Given the description of an element on the screen output the (x, y) to click on. 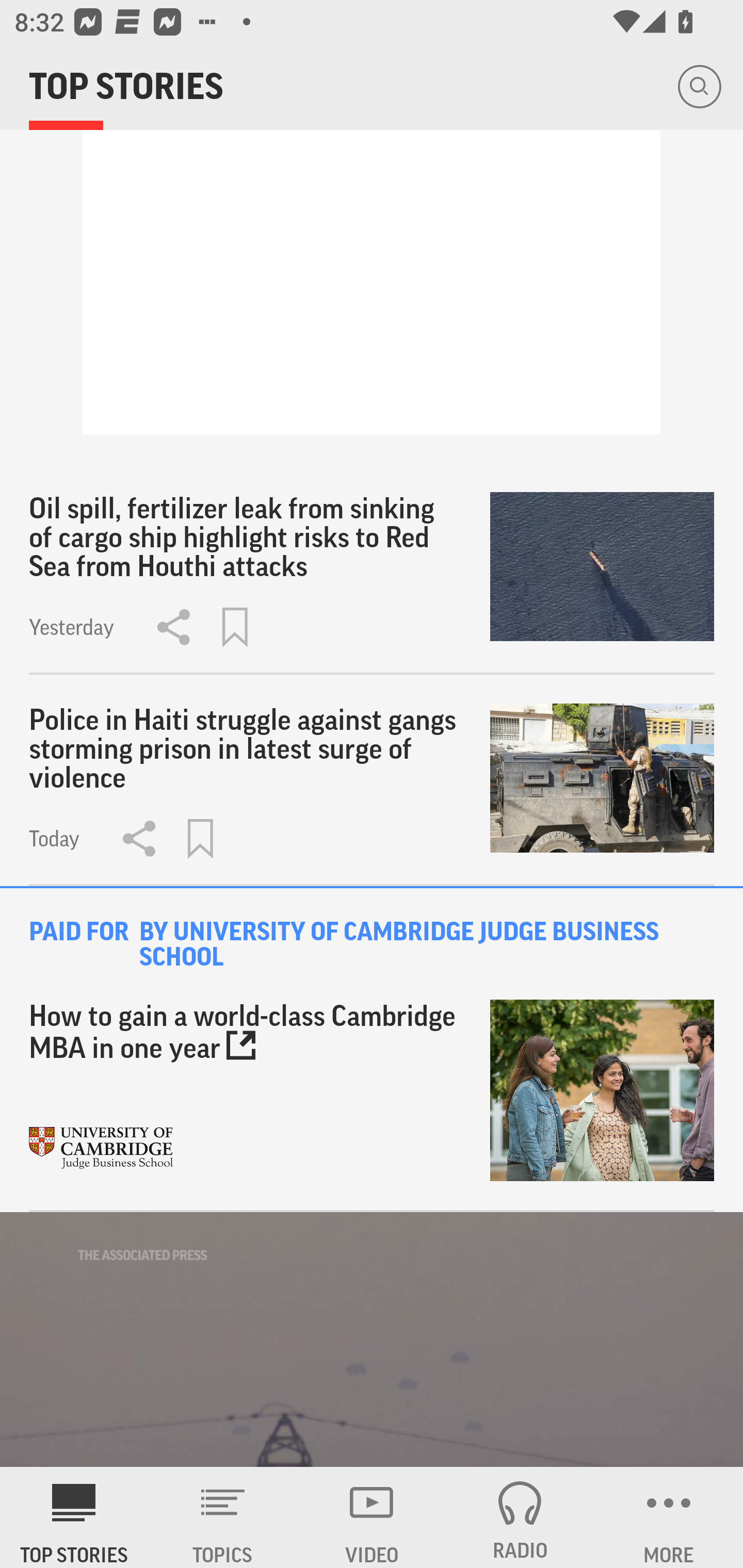
toggle controls (371, 1339)
AP News TOP STORIES (74, 1517)
TOPICS (222, 1517)
VIDEO (371, 1517)
RADIO (519, 1517)
MORE (668, 1517)
